Given the description of an element on the screen output the (x, y) to click on. 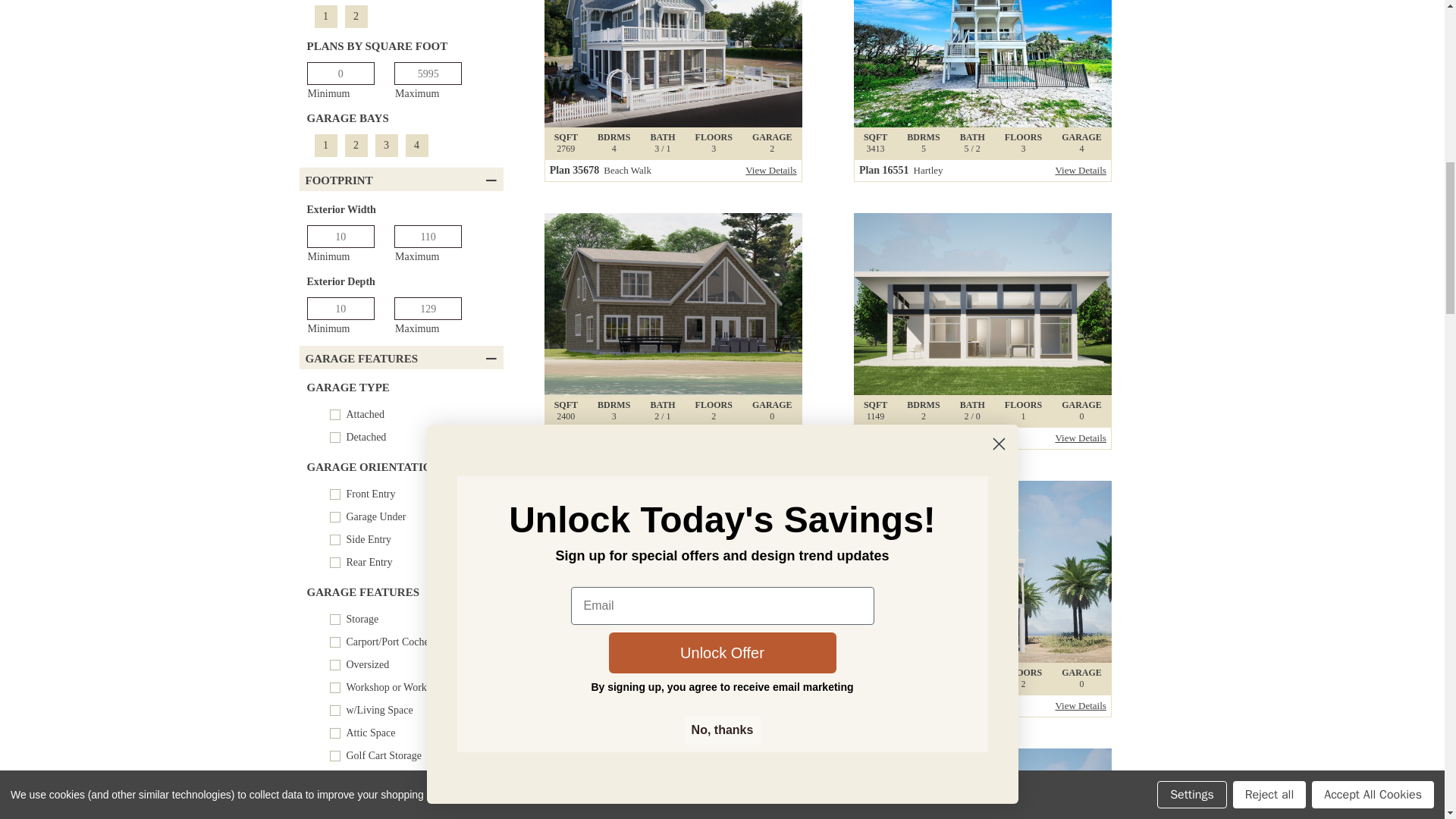
Hartley - 16551 (405, 425)
Lincoln Ridge - 91562 (982, 63)
Daffodil - 83094 (673, 303)
Buntline  - 14881 (982, 303)
Carlow - 94026 (405, 145)
Beach Walk - 35678 (982, 571)
